Given the description of an element on the screen output the (x, y) to click on. 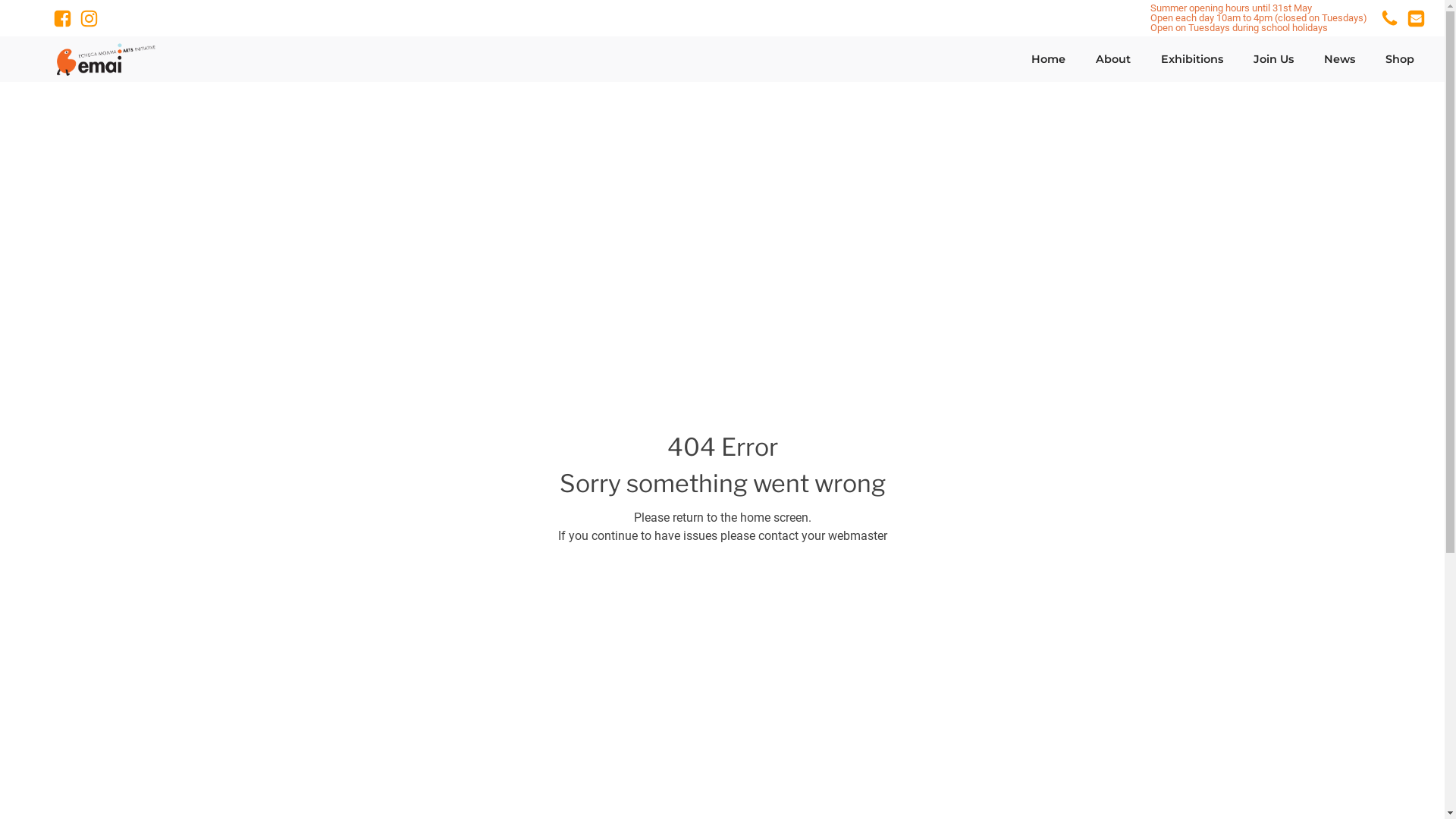
Shop Element type: text (1399, 59)
Join Us Element type: text (1273, 59)
News Element type: text (1339, 59)
Exhibitions Element type: text (1191, 59)
About Element type: text (1112, 59)
Home Element type: text (1048, 59)
